Given the description of an element on the screen output the (x, y) to click on. 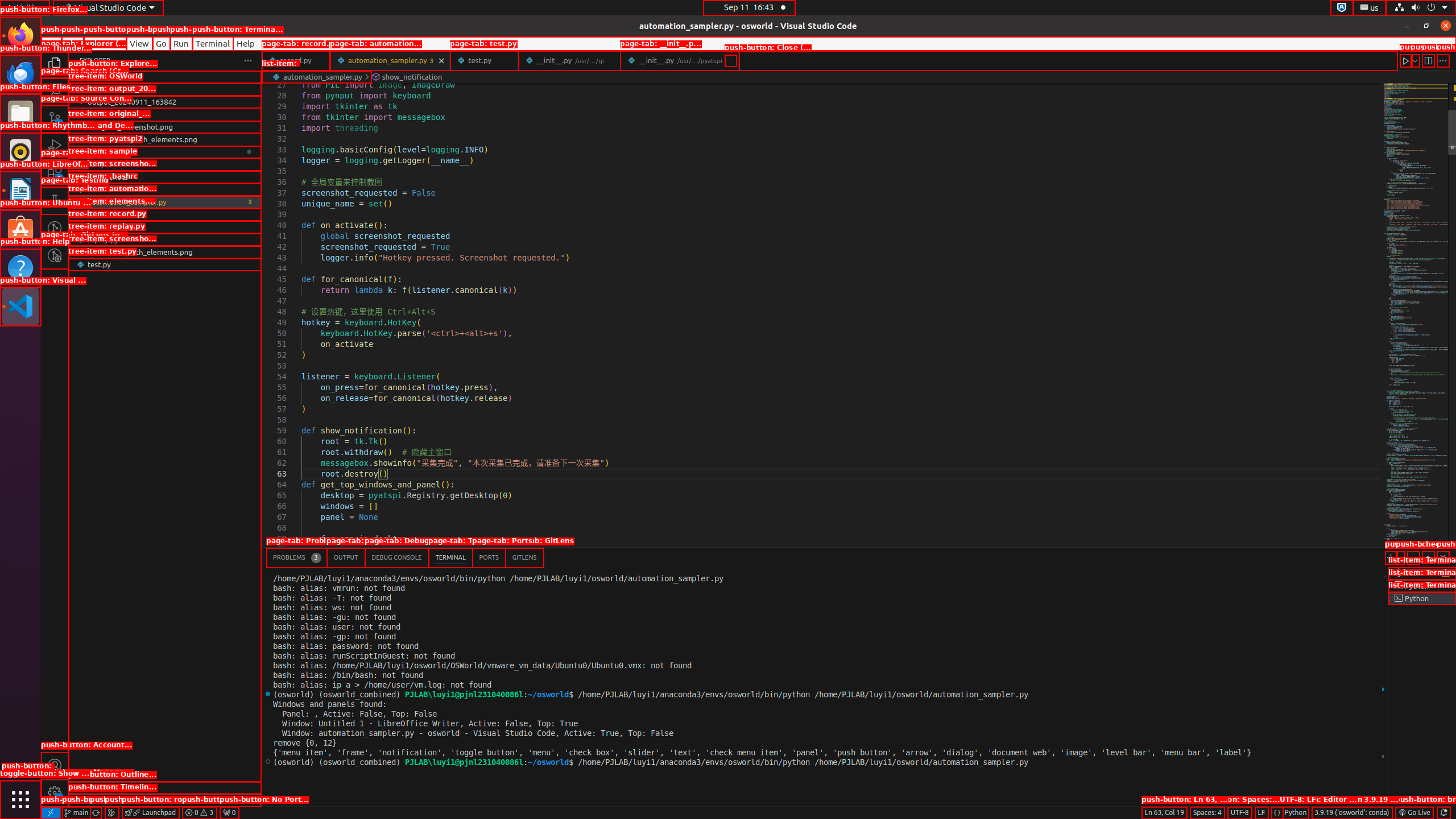
test.py Element type: tree-item (164, 264)
original_screenshot.png Element type: tree-item (164, 126)
test.py Element type: page-tab (483, 60)
automation_sampler.py Element type: page-tab (389, 60)
